Given the description of an element on the screen output the (x, y) to click on. 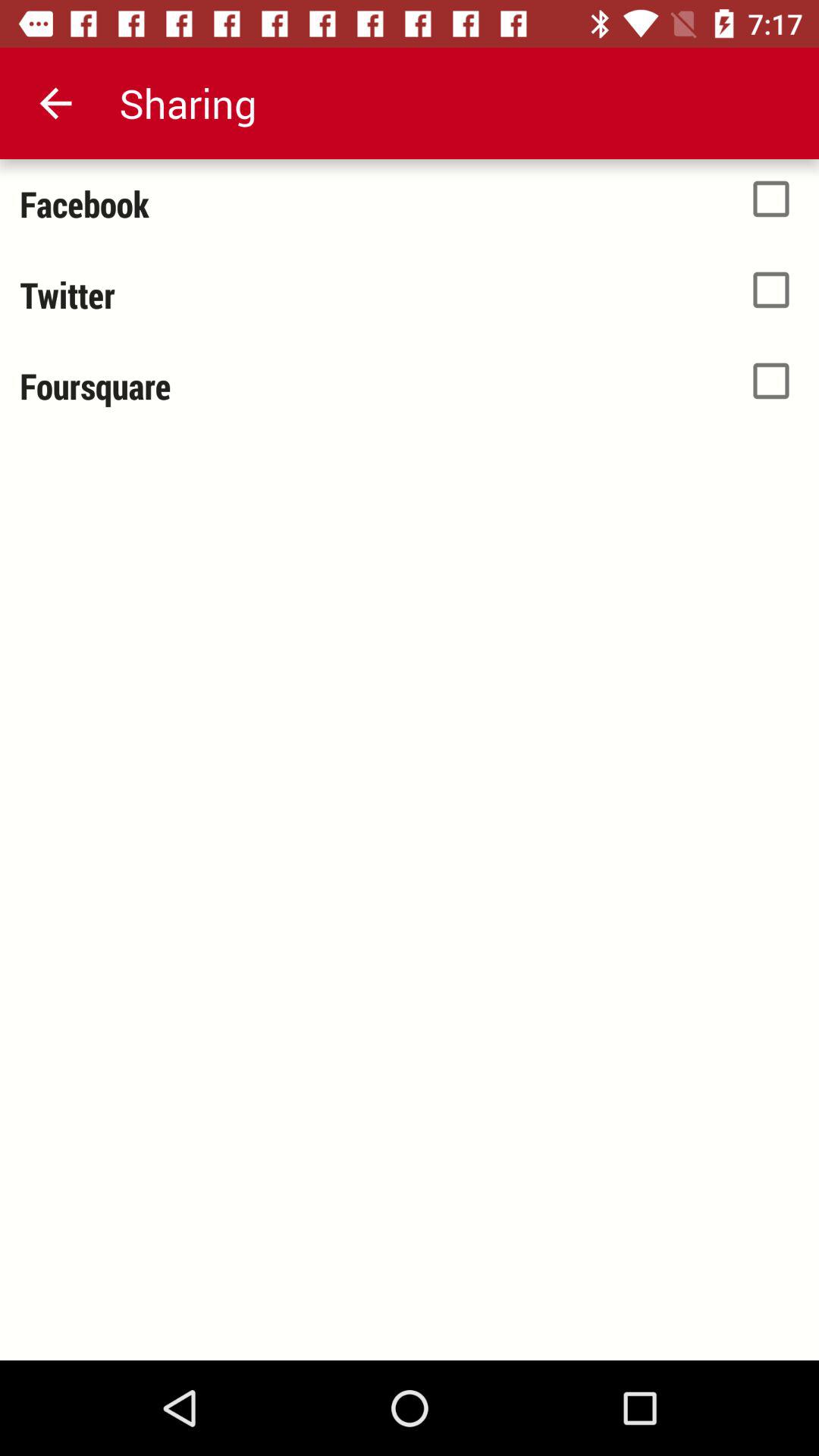
select item to the left of the sharing icon (55, 103)
